Given the description of an element on the screen output the (x, y) to click on. 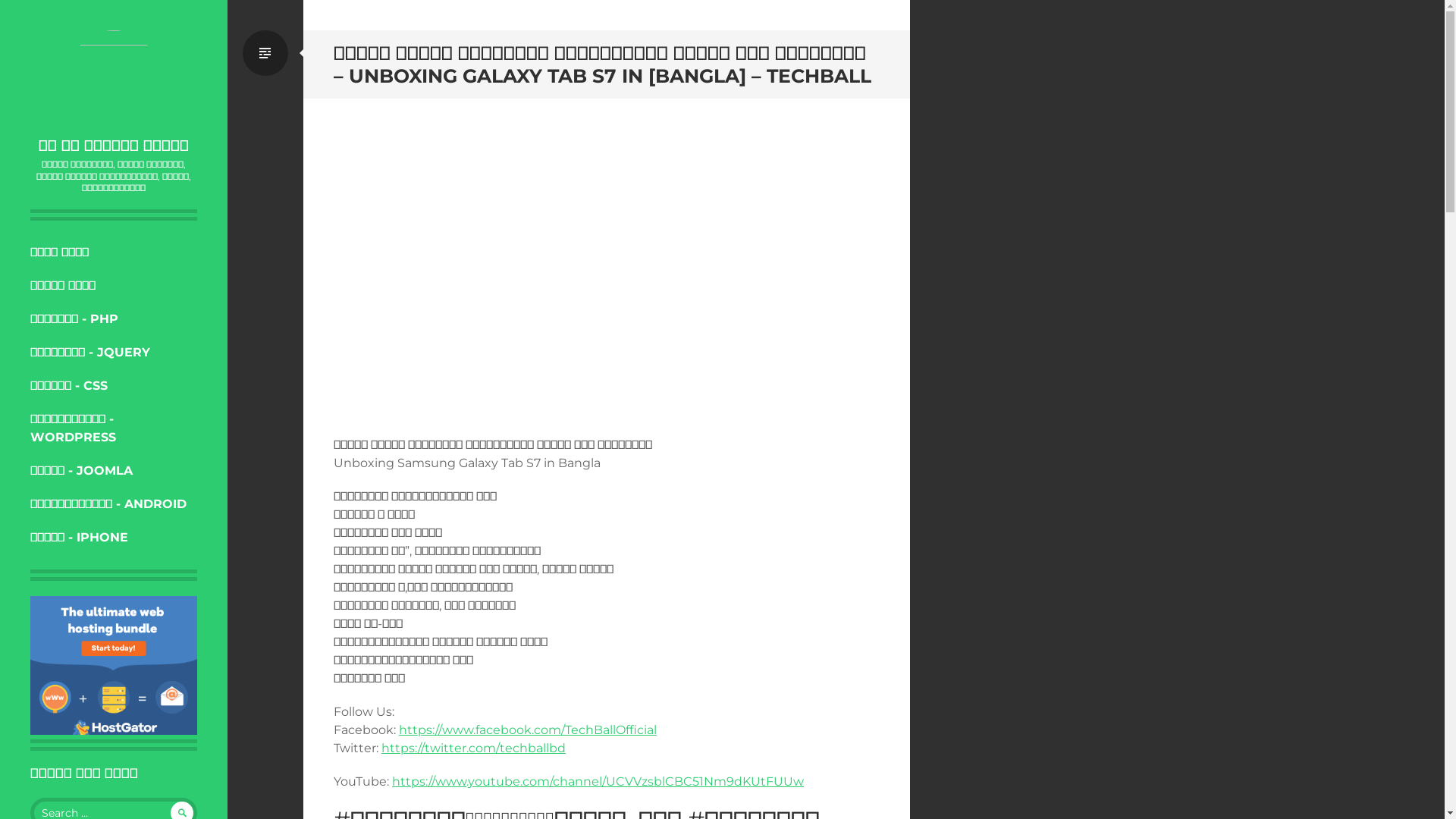
https://twitter.com/techballbd Element type: text (473, 747)
https://www.youtube.com/channel/UCVVzsblCBC51Nm9dKUtFUUw Element type: text (597, 781)
https://www.facebook.com/TechBallOfficial Element type: text (527, 729)
